Given the description of an element on the screen output the (x, y) to click on. 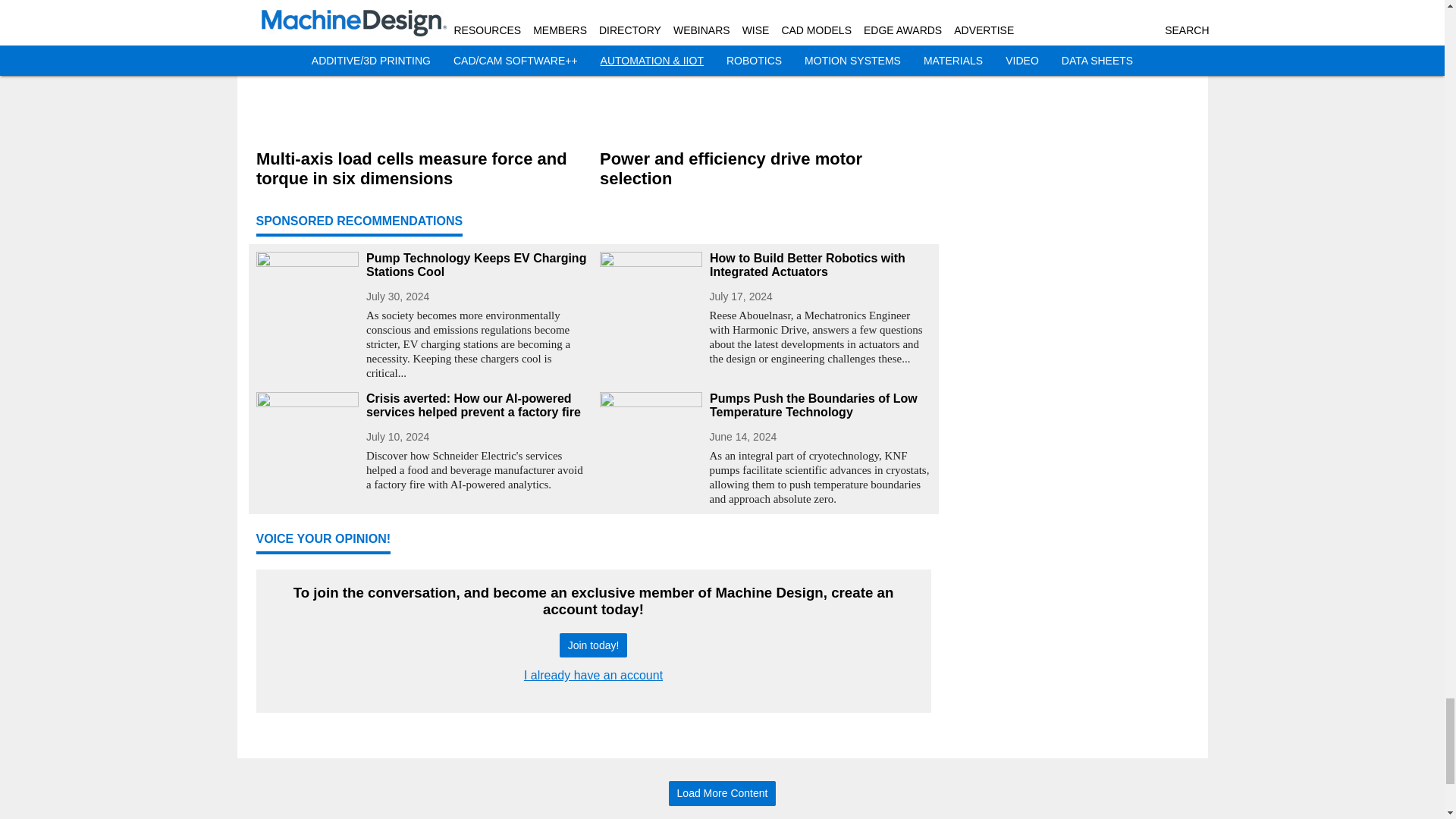
How to Build Better Robotics with Integrated Actuators (820, 265)
Power and efficiency drive motor selection (764, 169)
Pump Technology Keeps EV Charging Stations Cool (476, 265)
